Given the description of an element on the screen output the (x, y) to click on. 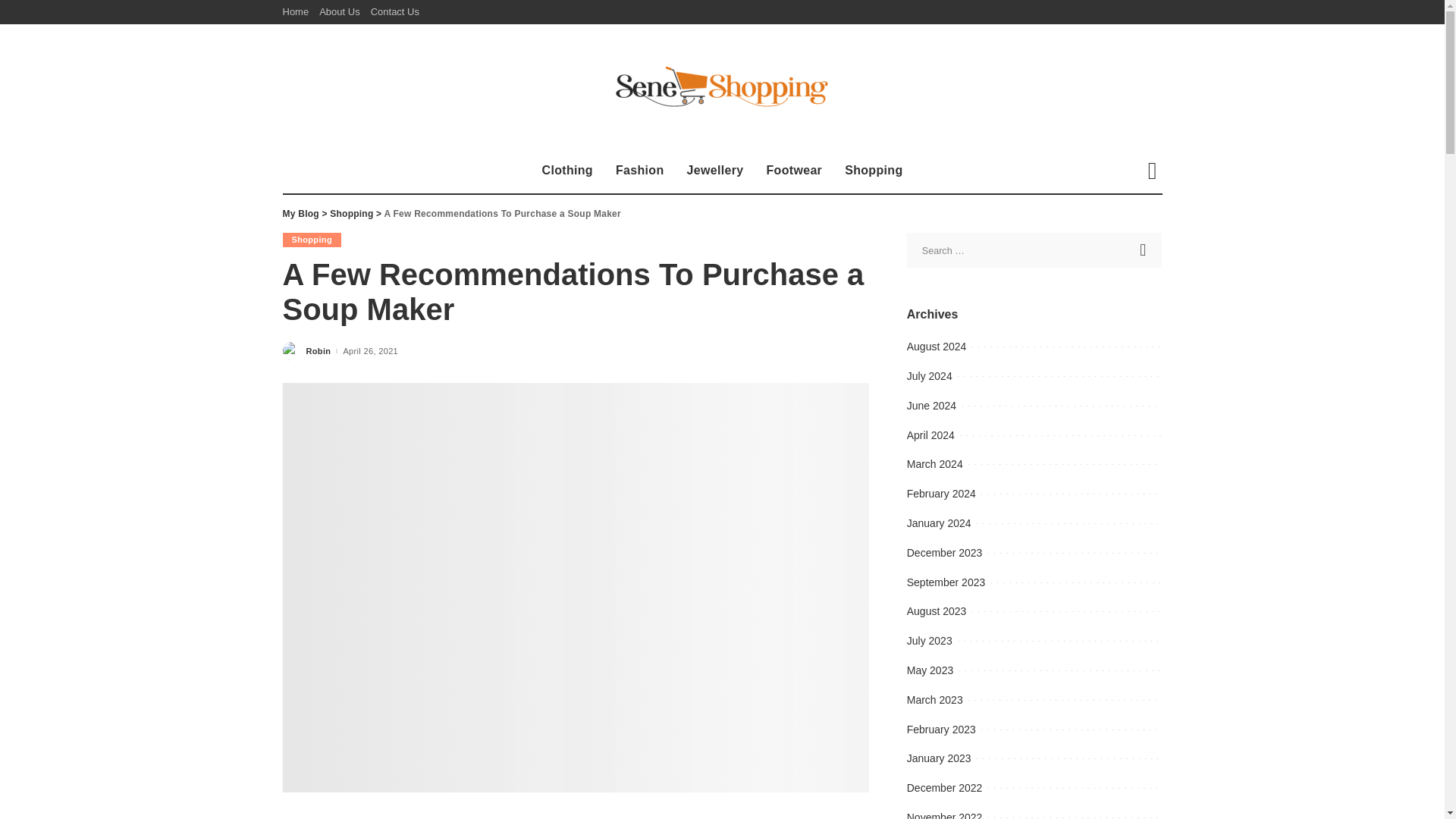
Footwear (793, 170)
Robin (318, 351)
Shopping (311, 239)
Shopping (873, 170)
Home (298, 11)
Go to My Blog. (300, 213)
Clothing (567, 170)
Search (1143, 249)
Contact Us (395, 11)
My Blog (300, 213)
